Given the description of an element on the screen output the (x, y) to click on. 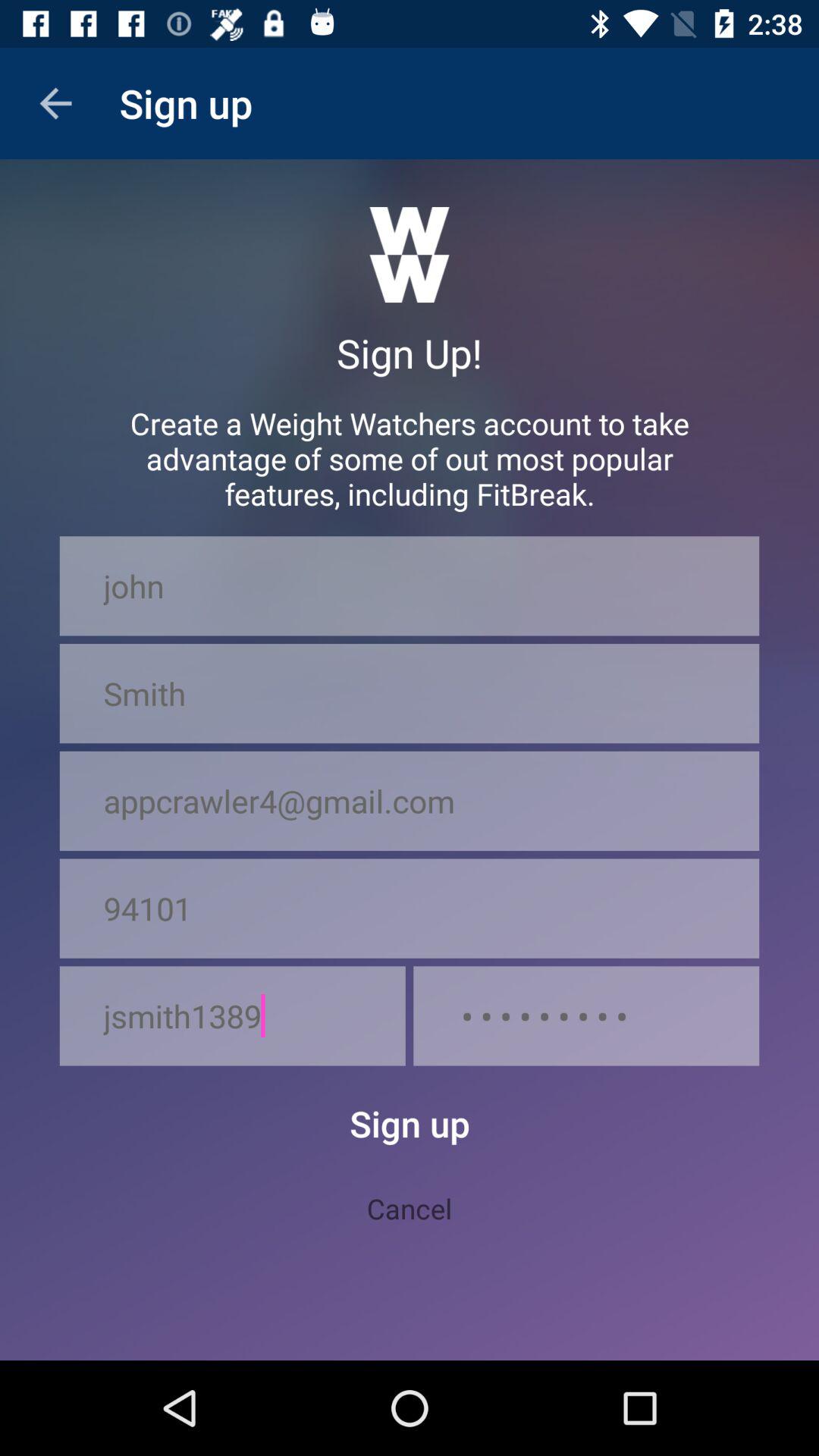
click item next to the sign up (55, 103)
